Given the description of an element on the screen output the (x, y) to click on. 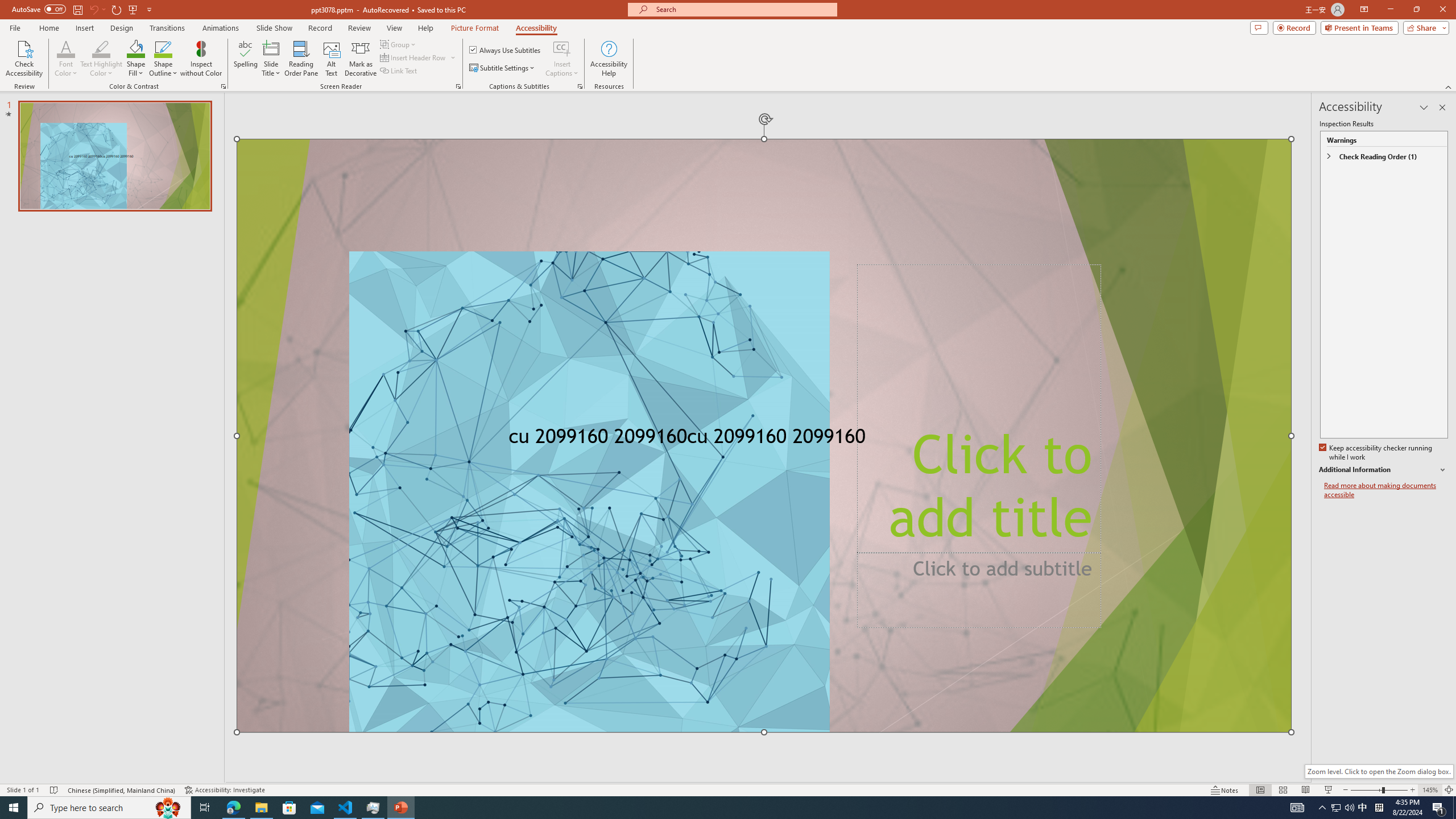
Insert Header Row (418, 56)
Additional Information (1383, 469)
Mark as Decorative (360, 58)
Link Text (399, 69)
Group (398, 44)
